Given the description of an element on the screen output the (x, y) to click on. 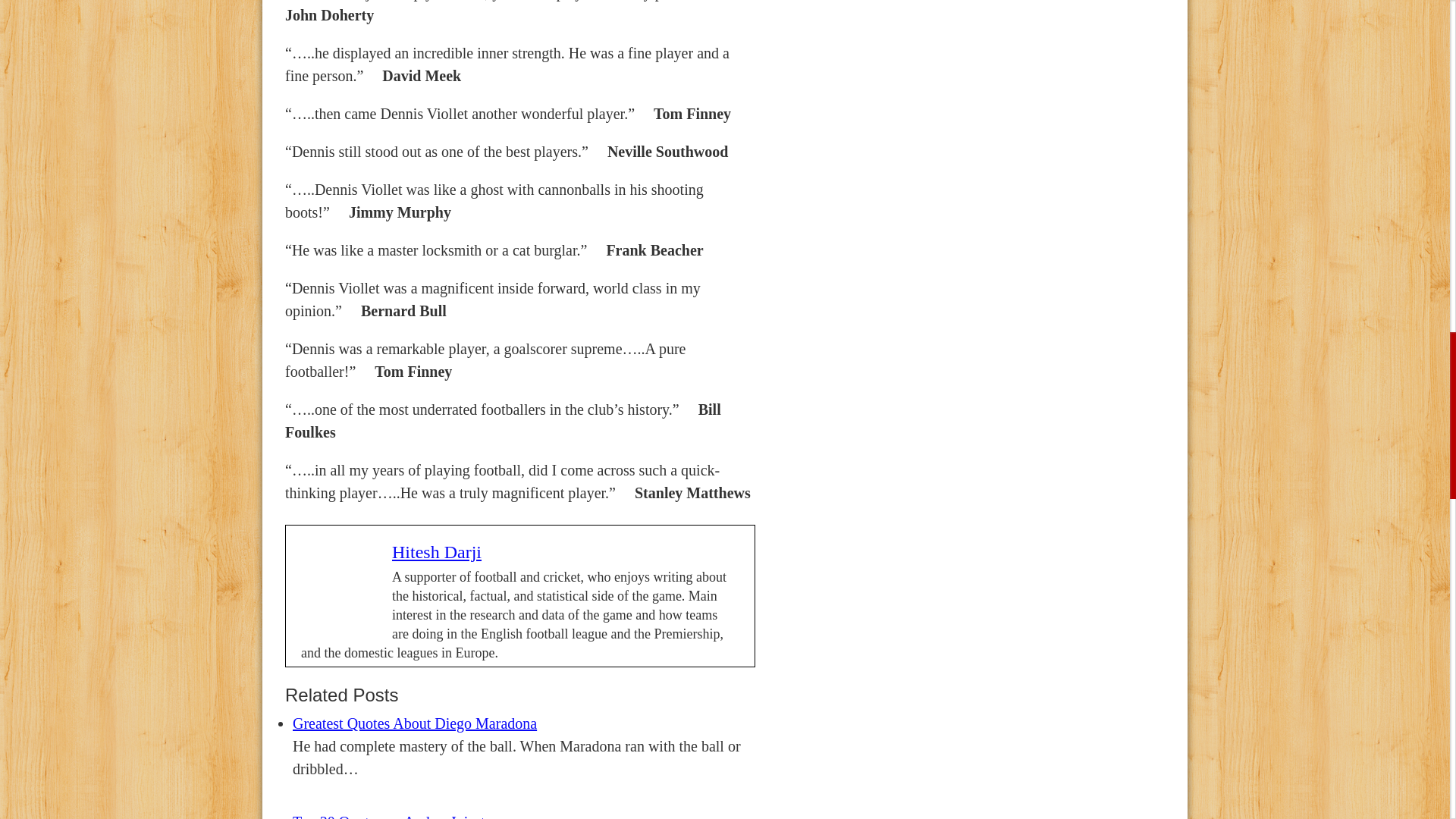
Hitesh Darji (436, 551)
Top 30 Quotes on Andres Iniesta (392, 816)
Greatest Quotes About Diego Maradona (414, 723)
